Given the description of an element on the screen output the (x, y) to click on. 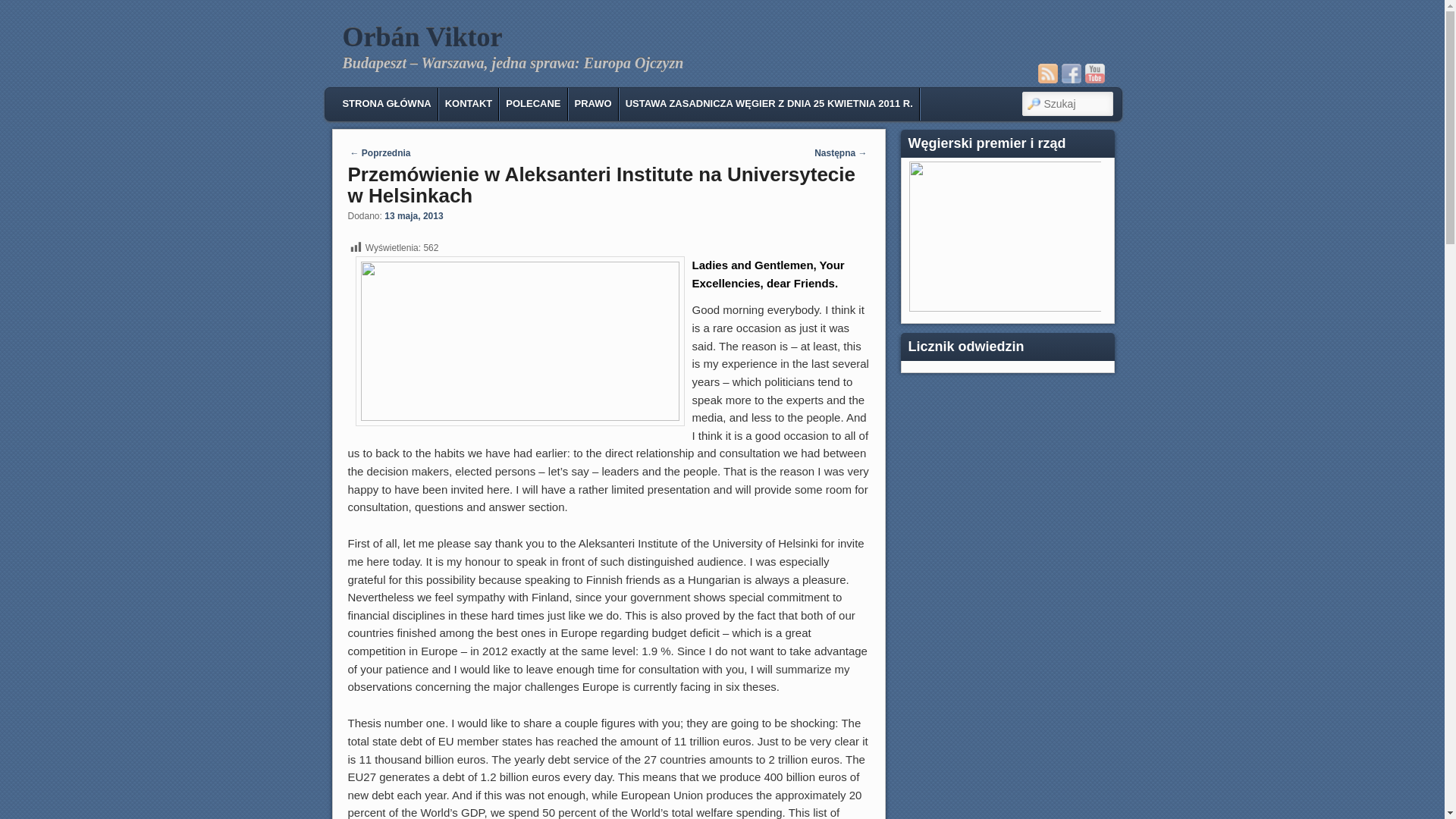
POLECANE (532, 103)
Szukaj (23, 8)
9:24 am (413, 215)
RSS (1046, 73)
13 maja, 2013 (413, 215)
KONTAKT (469, 103)
SKIP TO PRIMARY CONTENT (421, 102)
Youtube (1093, 73)
PRAWO (593, 103)
SKIP TO SECONDARY CONTENT (432, 102)
